Given the description of an element on the screen output the (x, y) to click on. 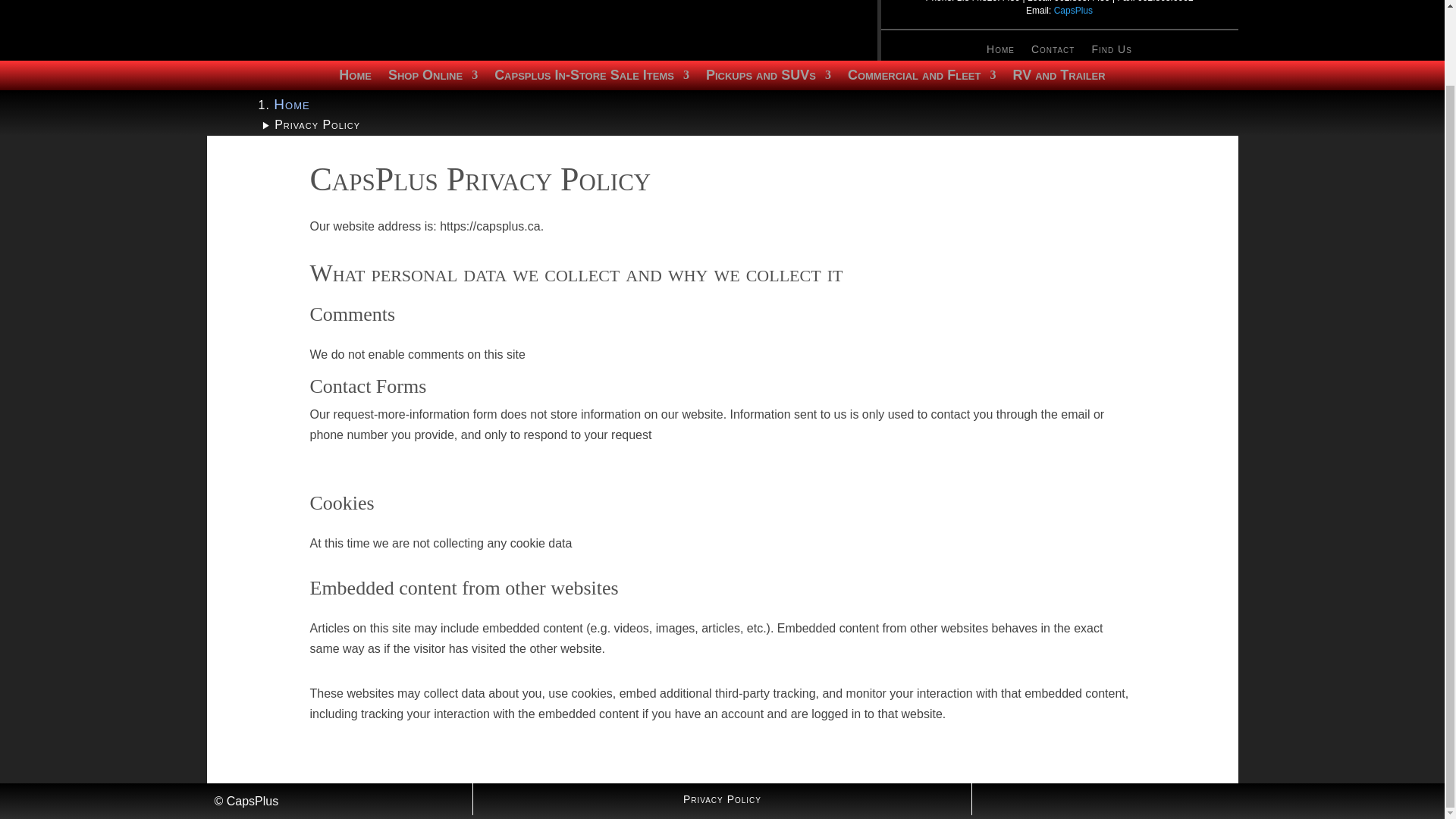
Find Us (1110, 52)
CapsPlus (1073, 9)
Shop Online (432, 77)
Home (355, 77)
Pickups and SUVs (768, 77)
Home (290, 104)
RV and Trailer (1058, 77)
Privacy Policy (721, 801)
Home (1000, 52)
Capsplus In-Store Sale Items (591, 77)
Commercial and Fleet (921, 77)
Contact (1052, 52)
